Given the description of an element on the screen output the (x, y) to click on. 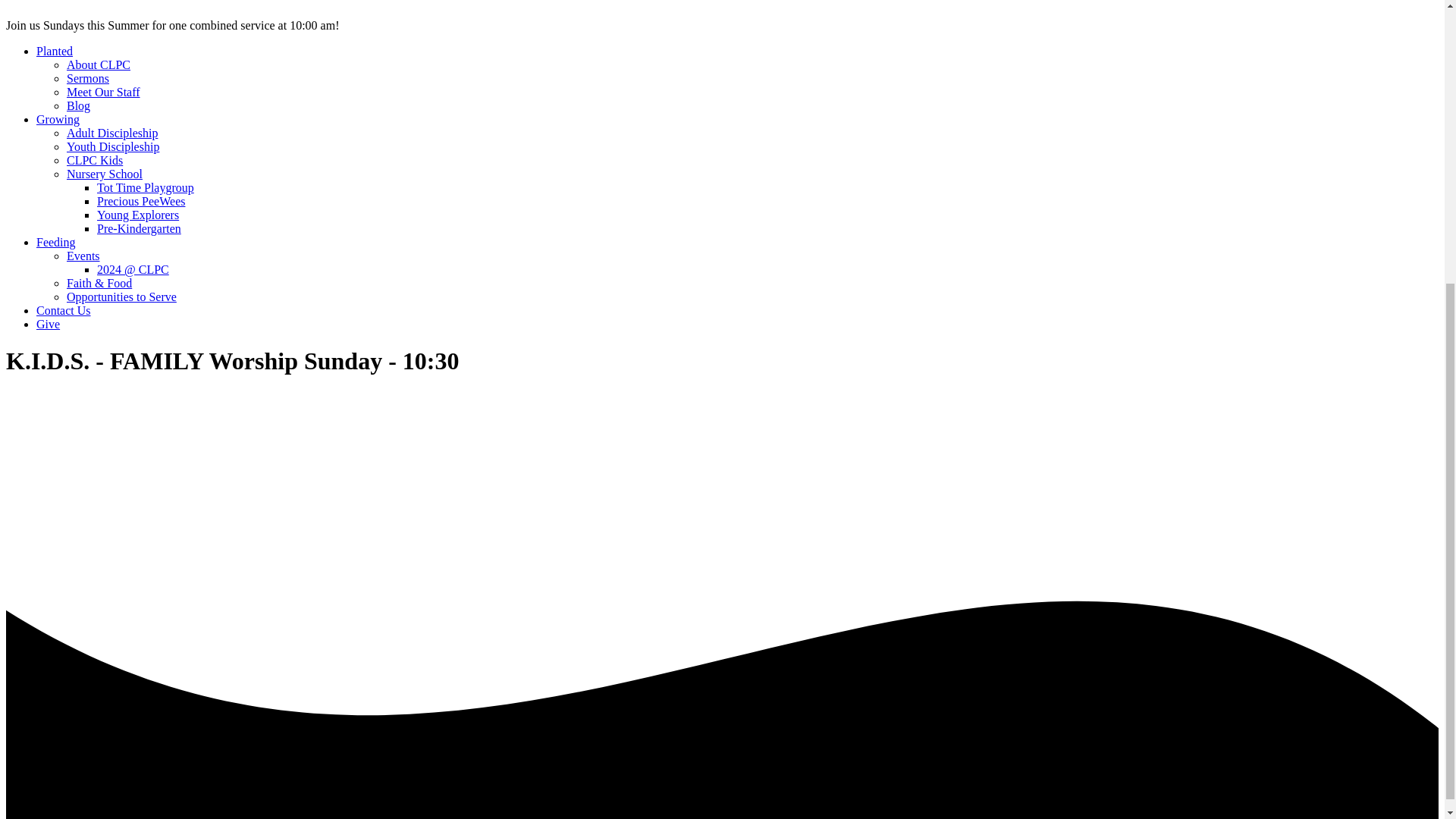
Meet Our Staff (102, 91)
CLPC Kids (94, 160)
Growing (58, 119)
Precious PeeWees (140, 201)
Pre-Kindergarten (138, 228)
Nursery School (104, 173)
About CLPC (98, 64)
Adult Discipleship (111, 132)
Planted (54, 51)
Young Explorers (138, 214)
Youth Discipleship (112, 146)
Blog (78, 105)
Sermons (87, 78)
Tot Time Playgroup (145, 187)
